Given the description of an element on the screen output the (x, y) to click on. 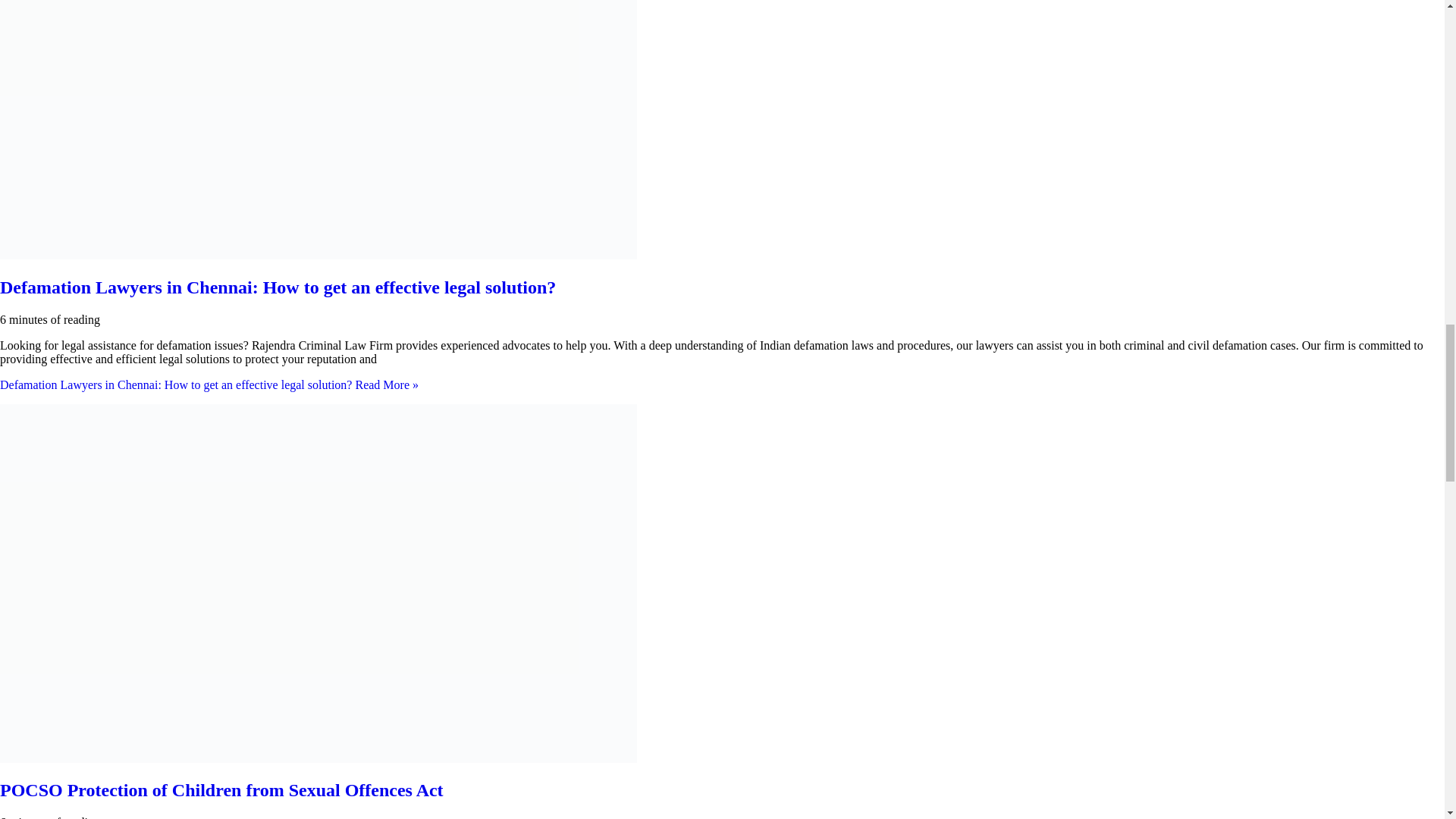
POCSO Protection of Children from Sexual Offences Act (222, 790)
